Given the description of an element on the screen output the (x, y) to click on. 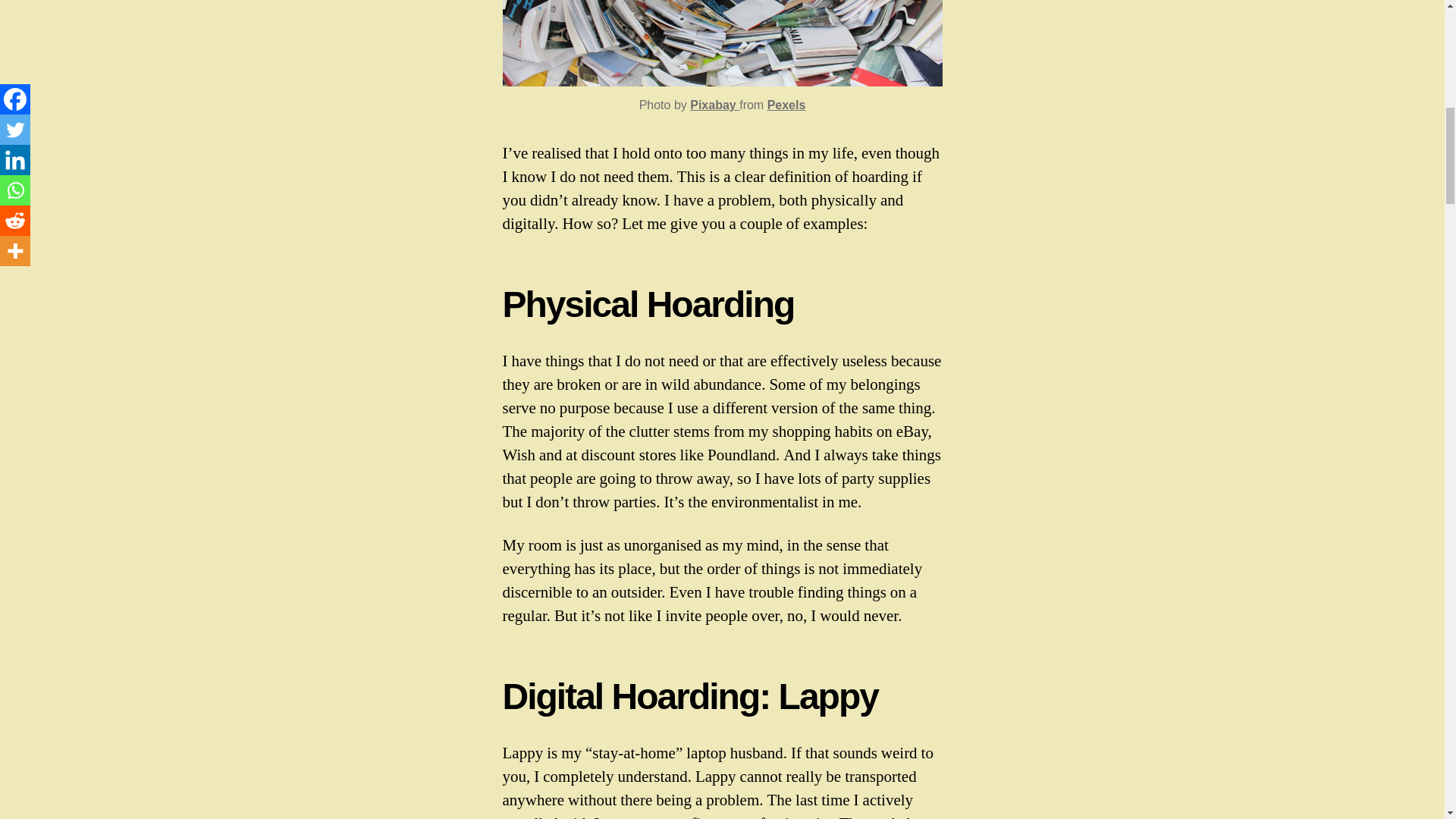
Pixabay  (714, 104)
Pexels (786, 104)
